Given the description of an element on the screen output the (x, y) to click on. 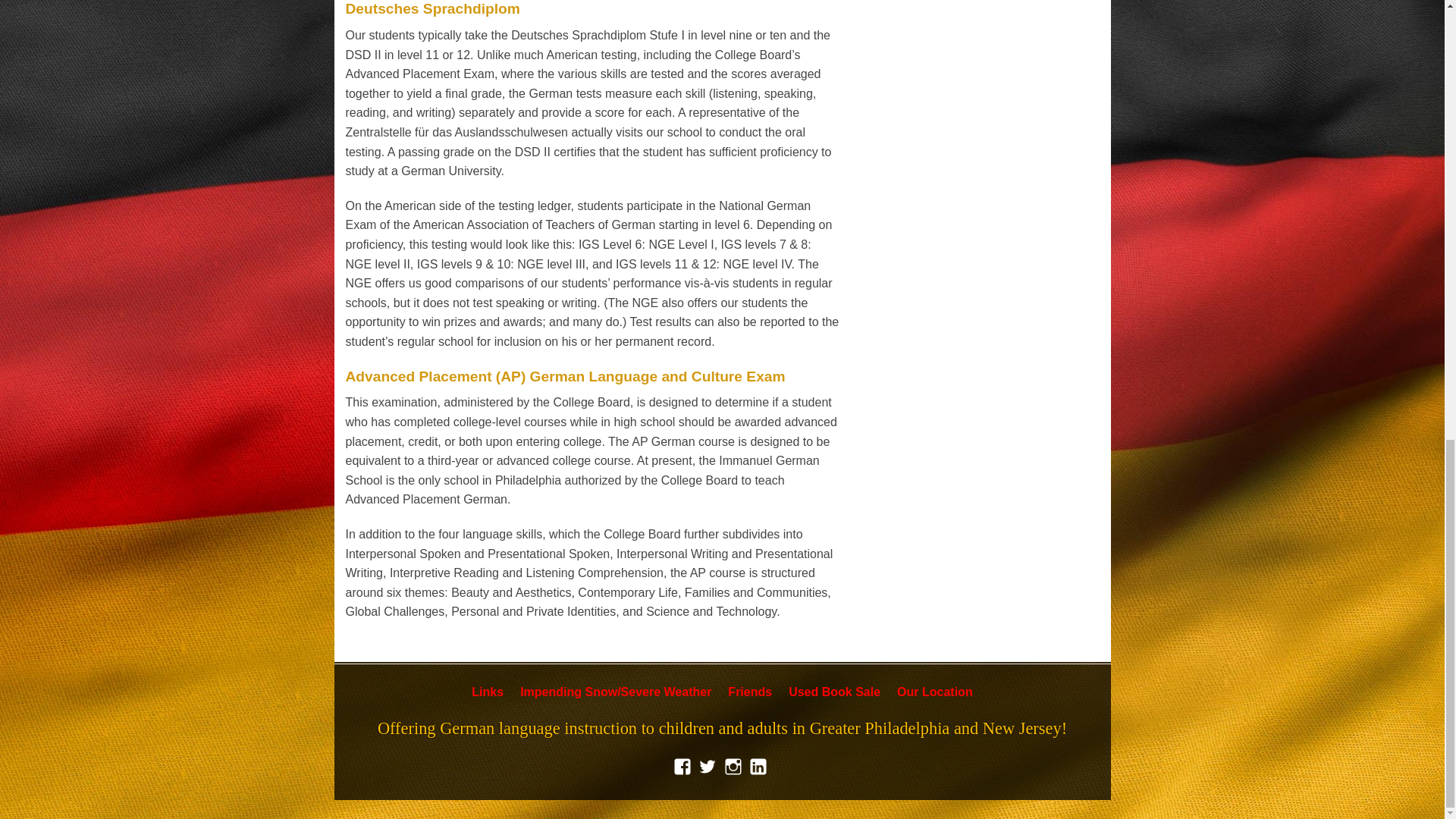
Linked in (760, 766)
Used Book Sale (834, 691)
Follow us on Twitter (709, 766)
Our Location (934, 691)
Instagram (734, 766)
Follow us on Facebook (683, 766)
Friends (749, 691)
Twitter (709, 766)
Facebook (683, 766)
Links (487, 691)
